Given the description of an element on the screen output the (x, y) to click on. 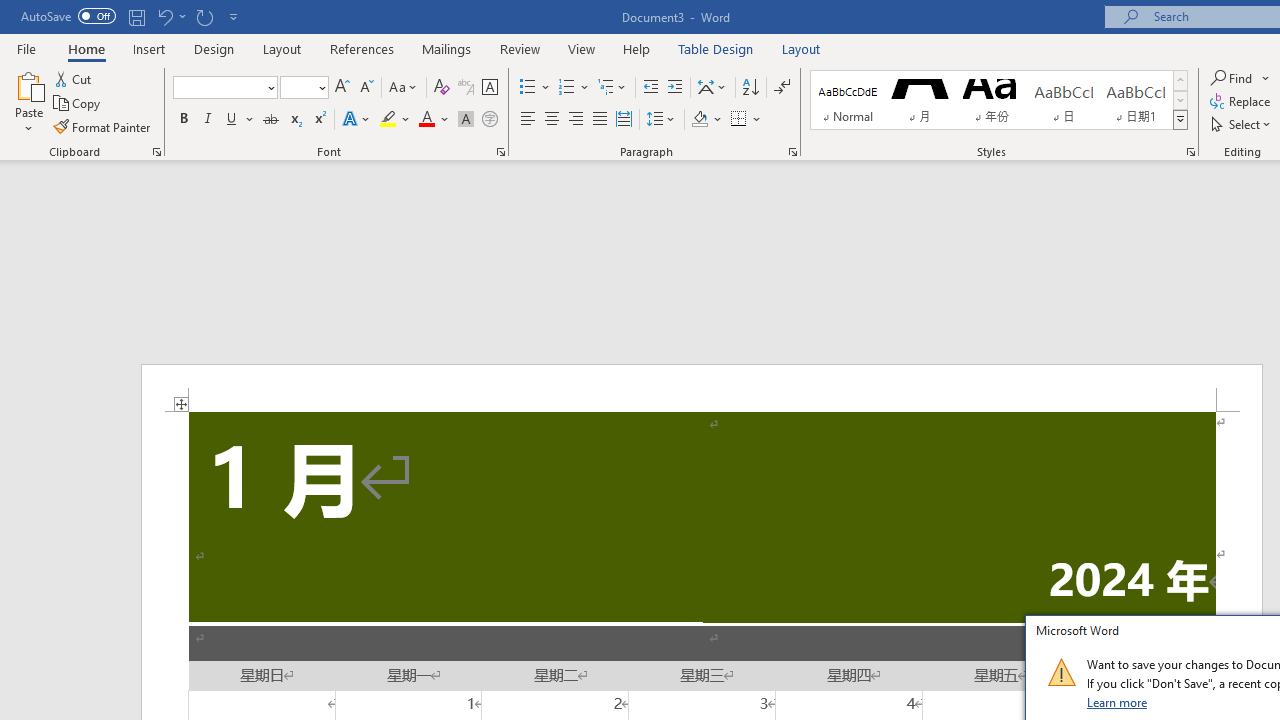
Design (214, 48)
Superscript (319, 119)
Save (136, 15)
Text Highlight Color Yellow (388, 119)
Styles (1179, 120)
Class: NetUIImage (1061, 671)
Home (86, 48)
Row Down (1179, 100)
Paste (28, 102)
Cut (73, 78)
Undo Distribute Para (164, 15)
Character Border (489, 87)
Font Size (304, 87)
Undo Distribute Para (170, 15)
